Given the description of an element on the screen output the (x, y) to click on. 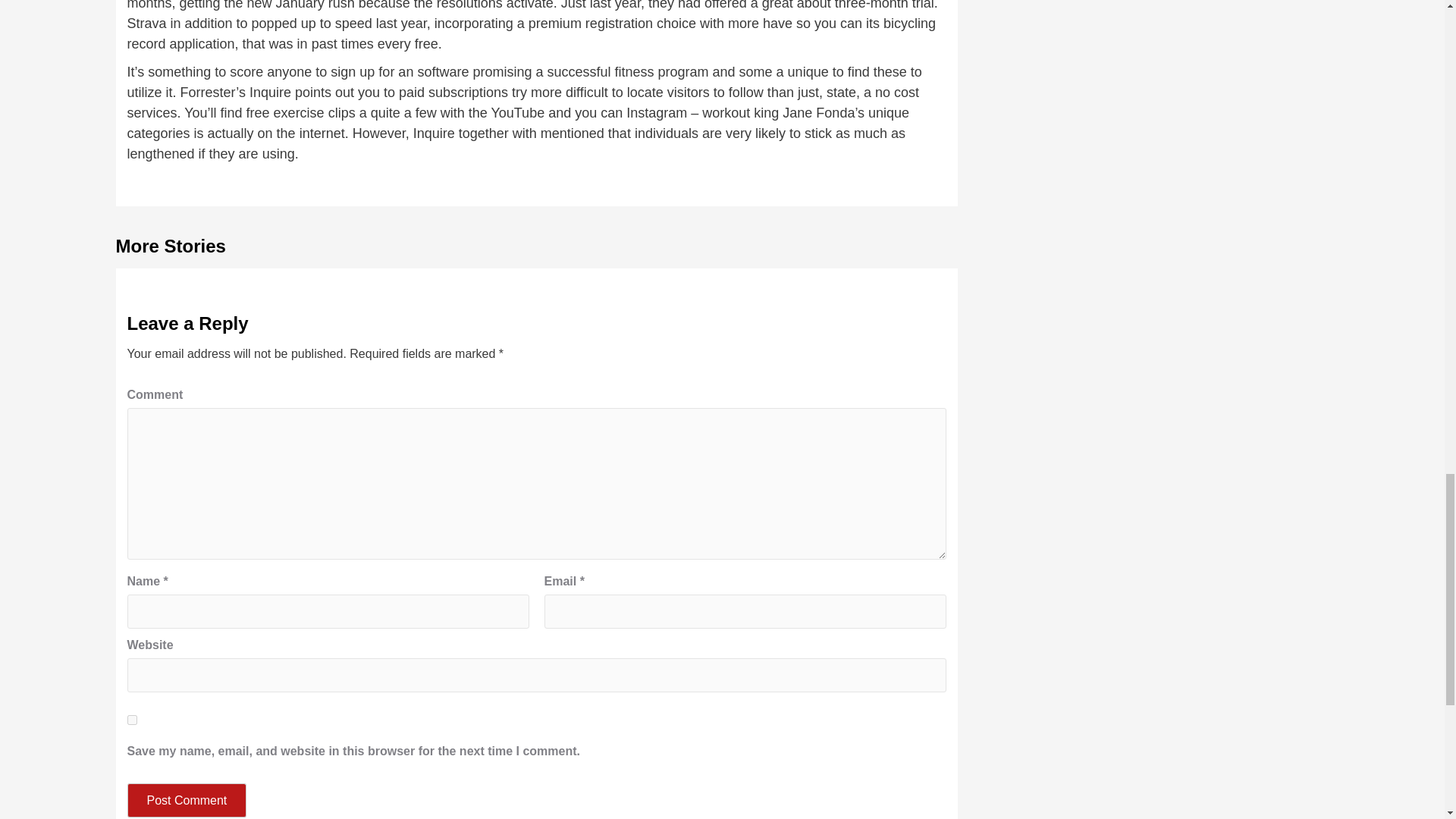
Post Comment (187, 799)
Post Comment (187, 799)
